Given the description of an element on the screen output the (x, y) to click on. 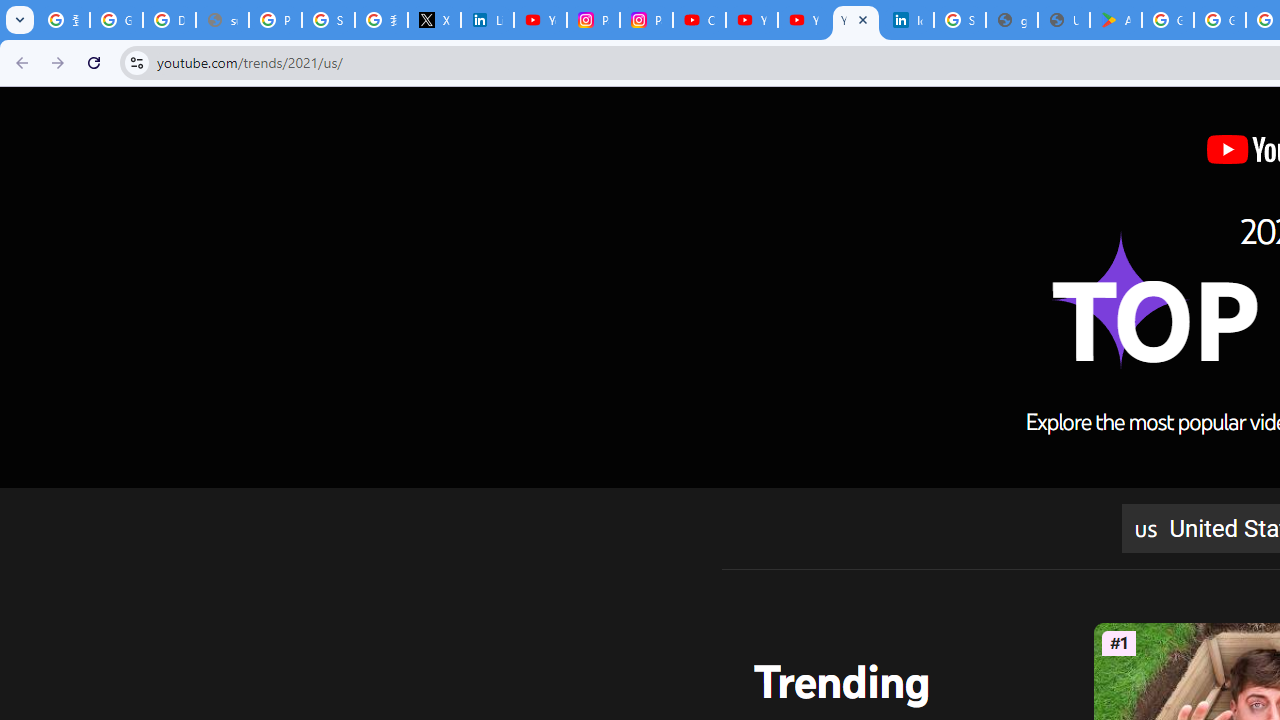
Privacy Help Center - Policies Help (275, 20)
YouTube Content Monetization Policies - How YouTube Works (540, 20)
User Details (1064, 20)
